Given the description of an element on the screen output the (x, y) to click on. 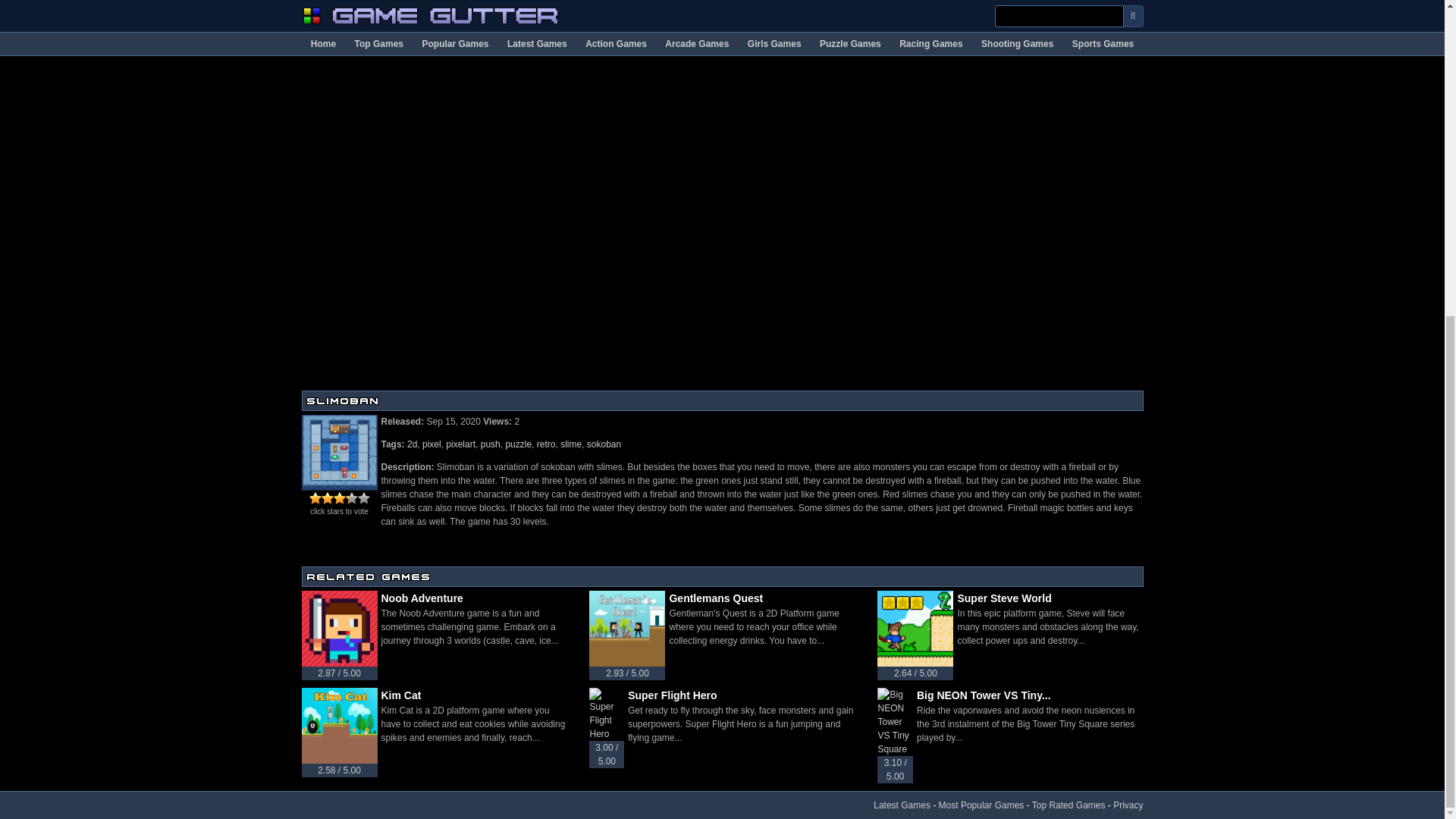
Gentlemans Quest (761, 598)
5 (338, 498)
retro (546, 443)
pixel (431, 443)
puzzle (518, 443)
2 (320, 498)
4 (333, 498)
1 (314, 498)
sokoban (603, 443)
pixelart (460, 443)
